Given the description of an element on the screen output the (x, y) to click on. 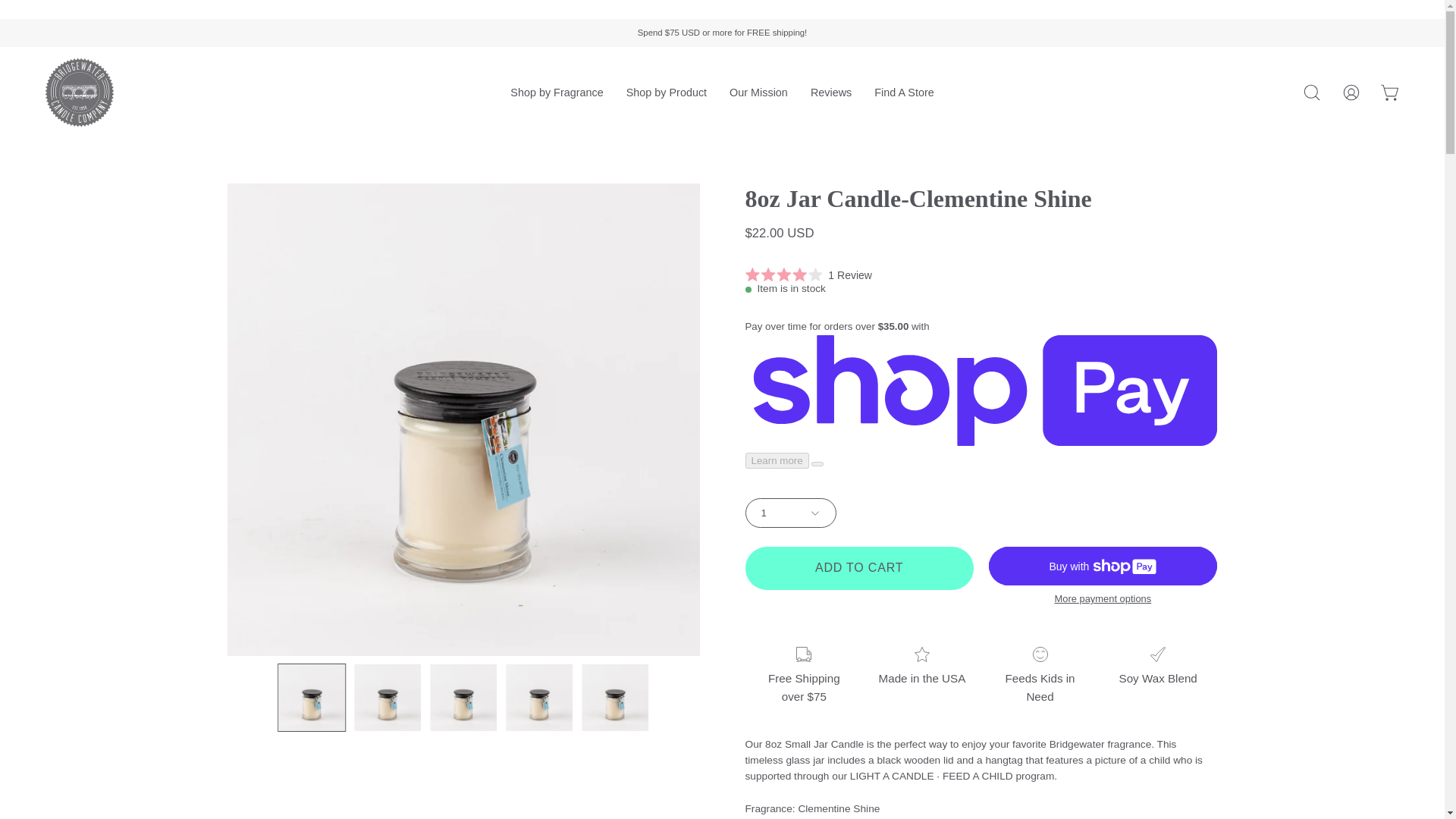
Open search bar (1311, 92)
